Given the description of an element on the screen output the (x, y) to click on. 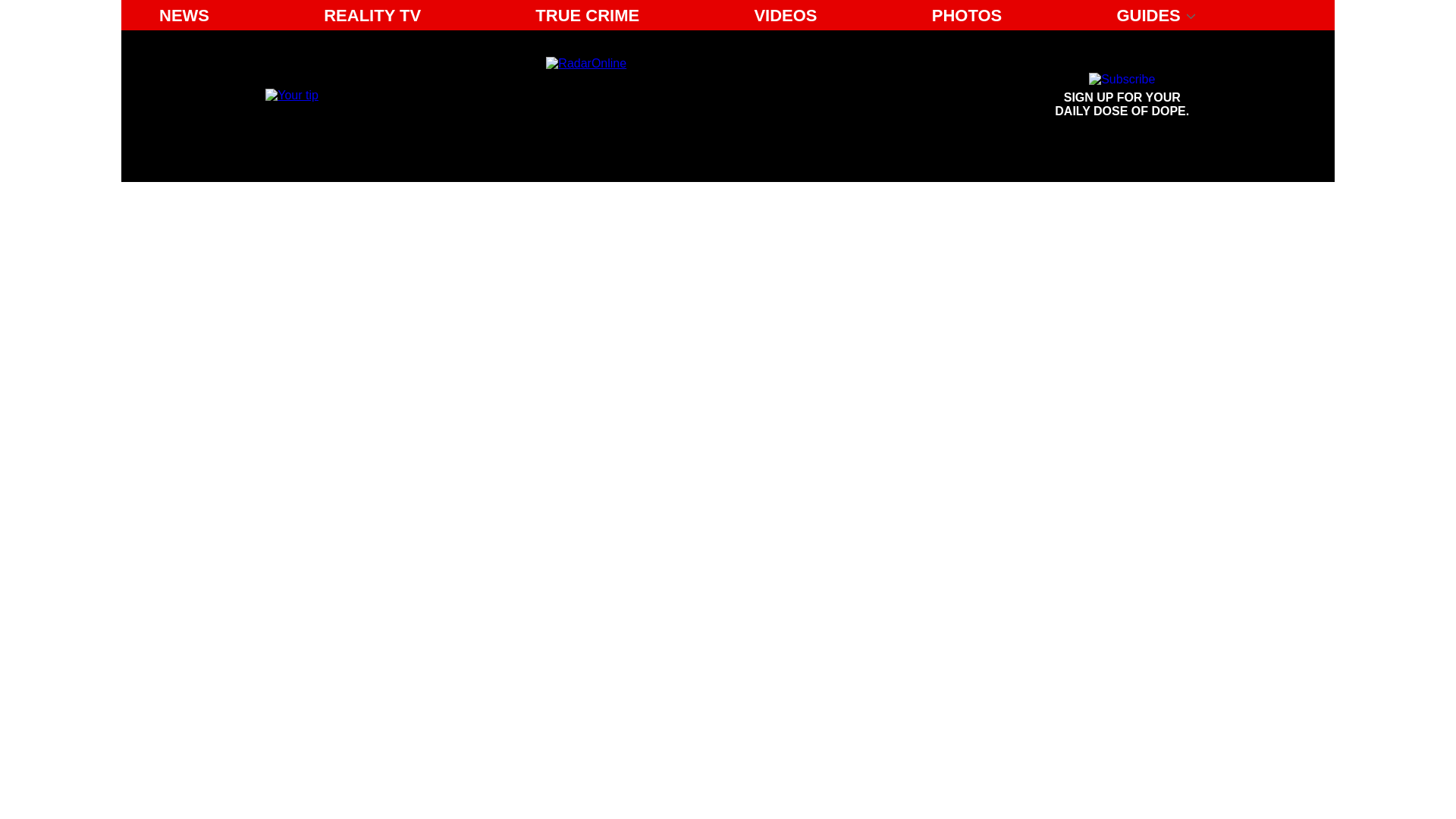
PHOTOS (967, 15)
REALITY TV (371, 15)
NEWS (183, 15)
Email us your tip (291, 94)
Sign up for your daily dose of dope. (1122, 94)
Radar Online (685, 95)
VIDEOS (784, 15)
TRUE CRIME (586, 15)
